Given the description of an element on the screen output the (x, y) to click on. 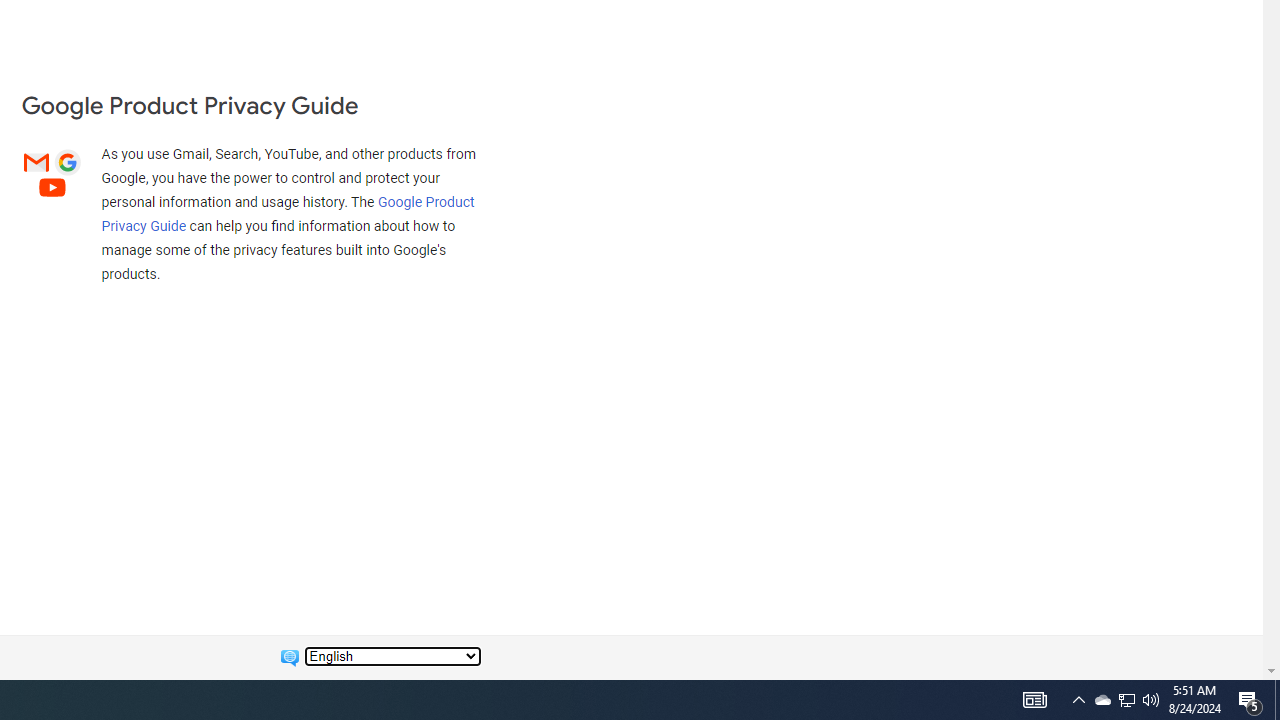
Change language: (392, 656)
Google Product Privacy Guide (287, 213)
